Given the description of an element on the screen output the (x, y) to click on. 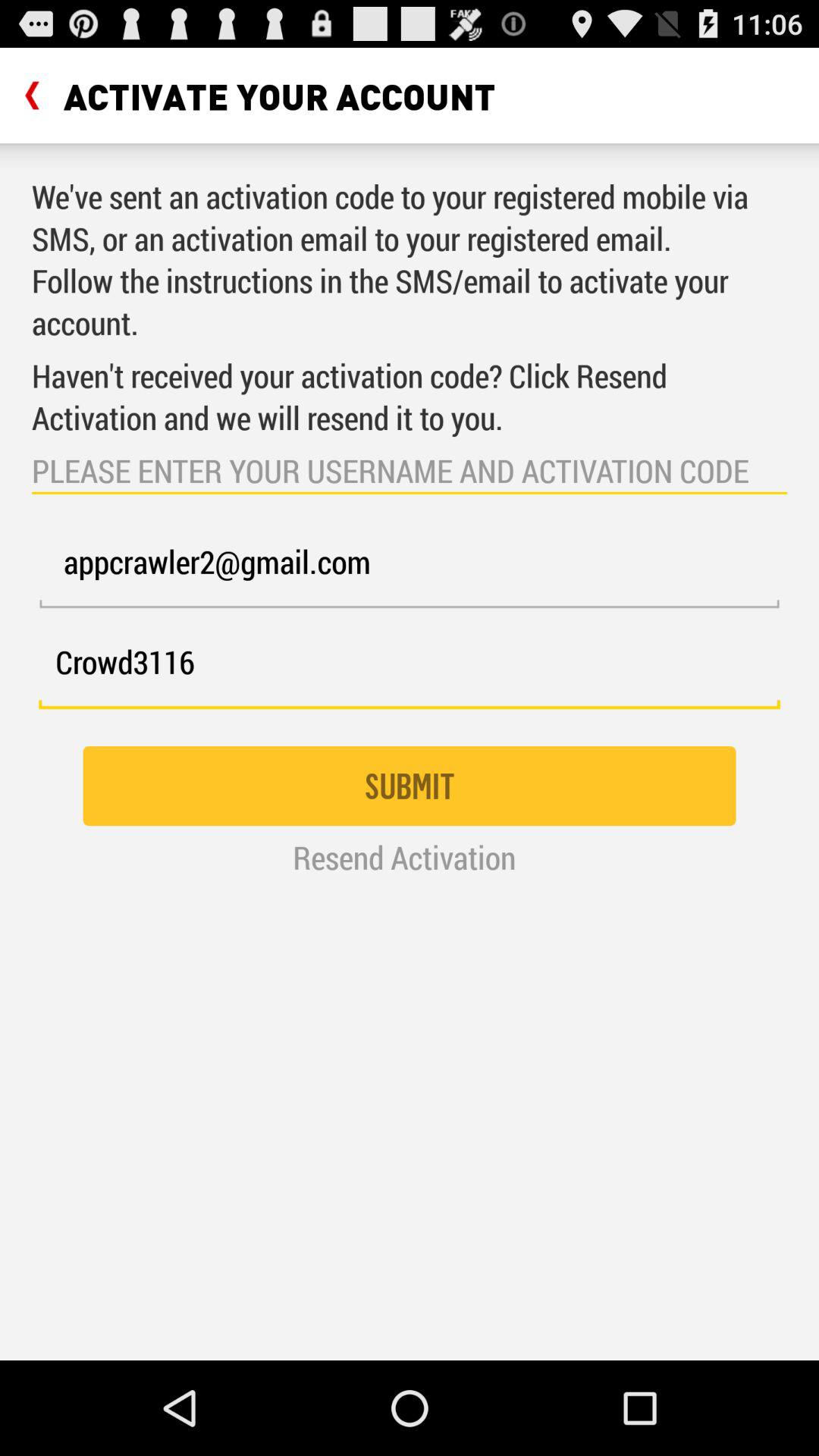
flip to the crowd3116 icon (409, 671)
